Given the description of an element on the screen output the (x, y) to click on. 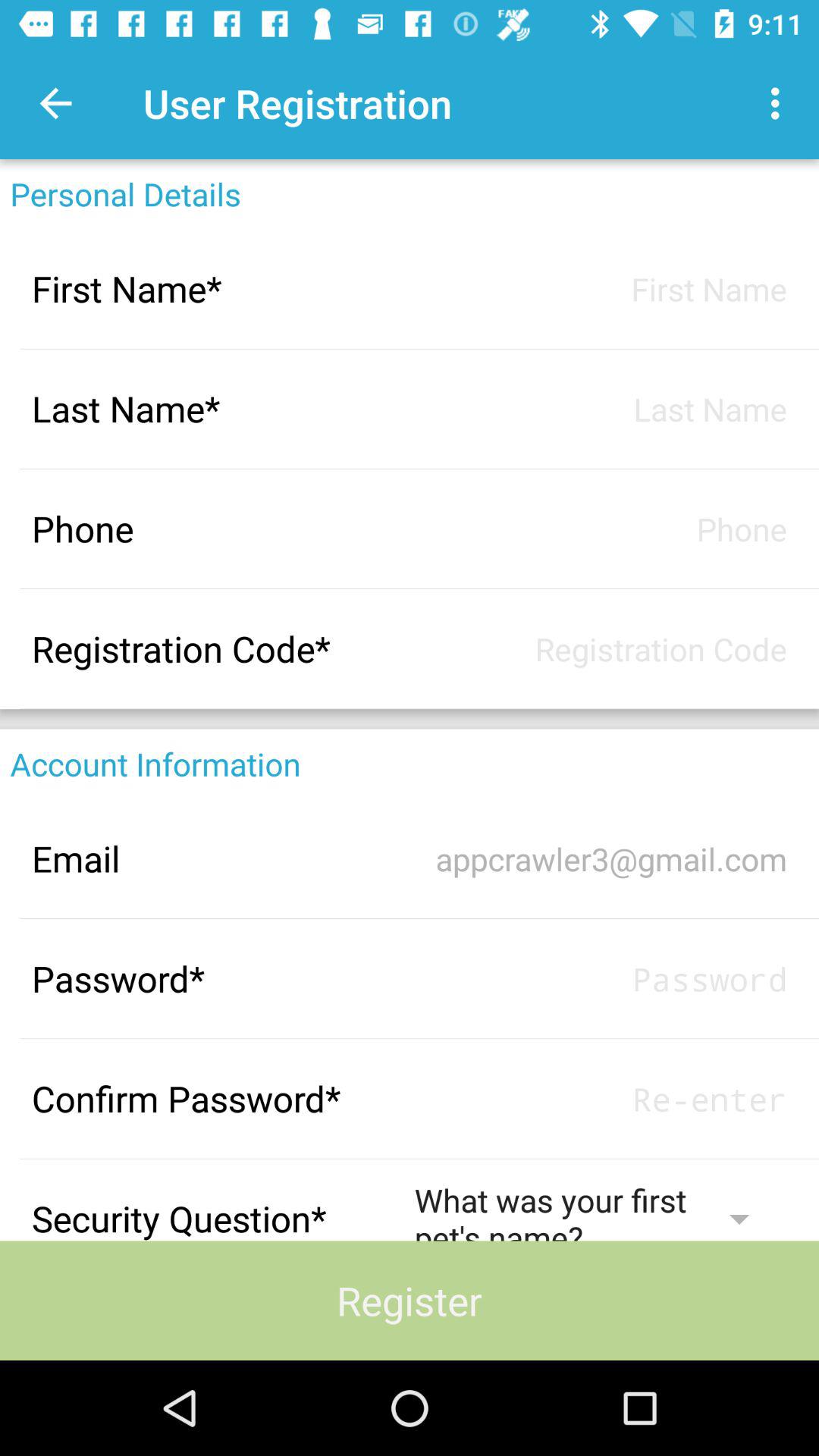
password box (600, 1098)
